Given the description of an element on the screen output the (x, y) to click on. 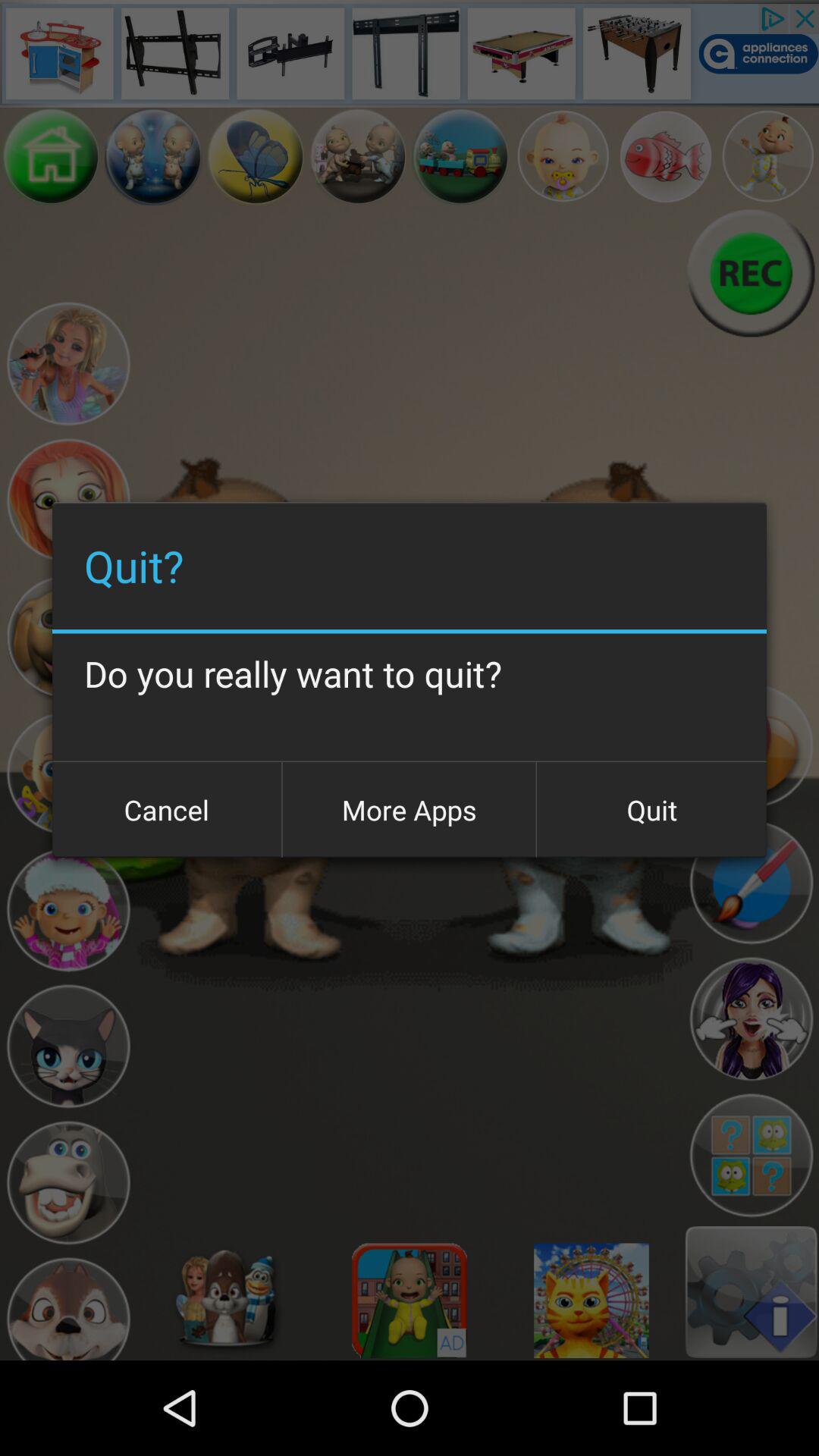
click the picture (255, 156)
